Given the description of an element on the screen output the (x, y) to click on. 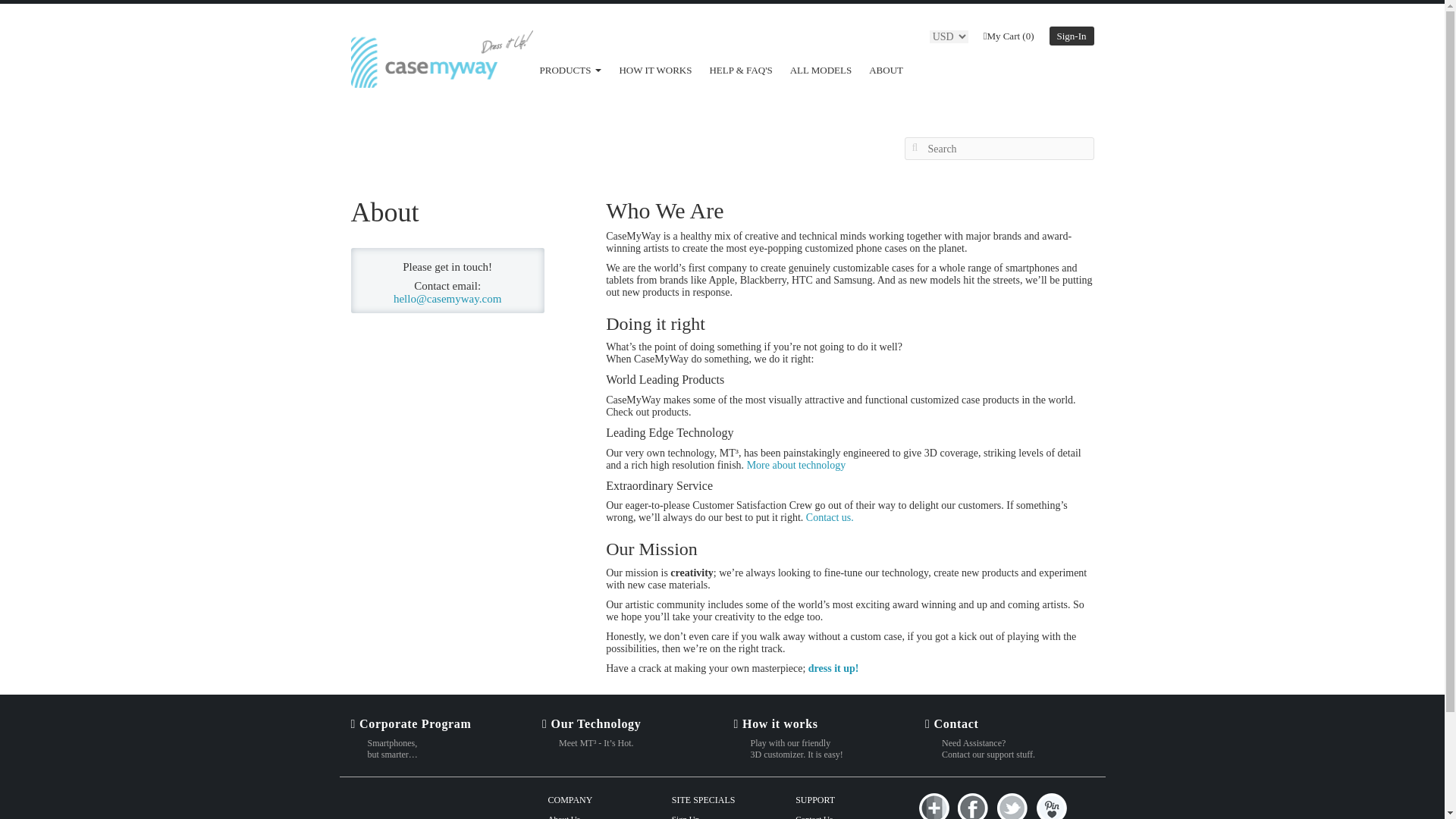
PRODUCTS (570, 69)
Follow us on Facebook (975, 805)
Follow us on Pinterest (1051, 805)
Create My Case - CaseMyWay (833, 668)
Follow us on Twitter (1013, 805)
